Given the description of an element on the screen output the (x, y) to click on. 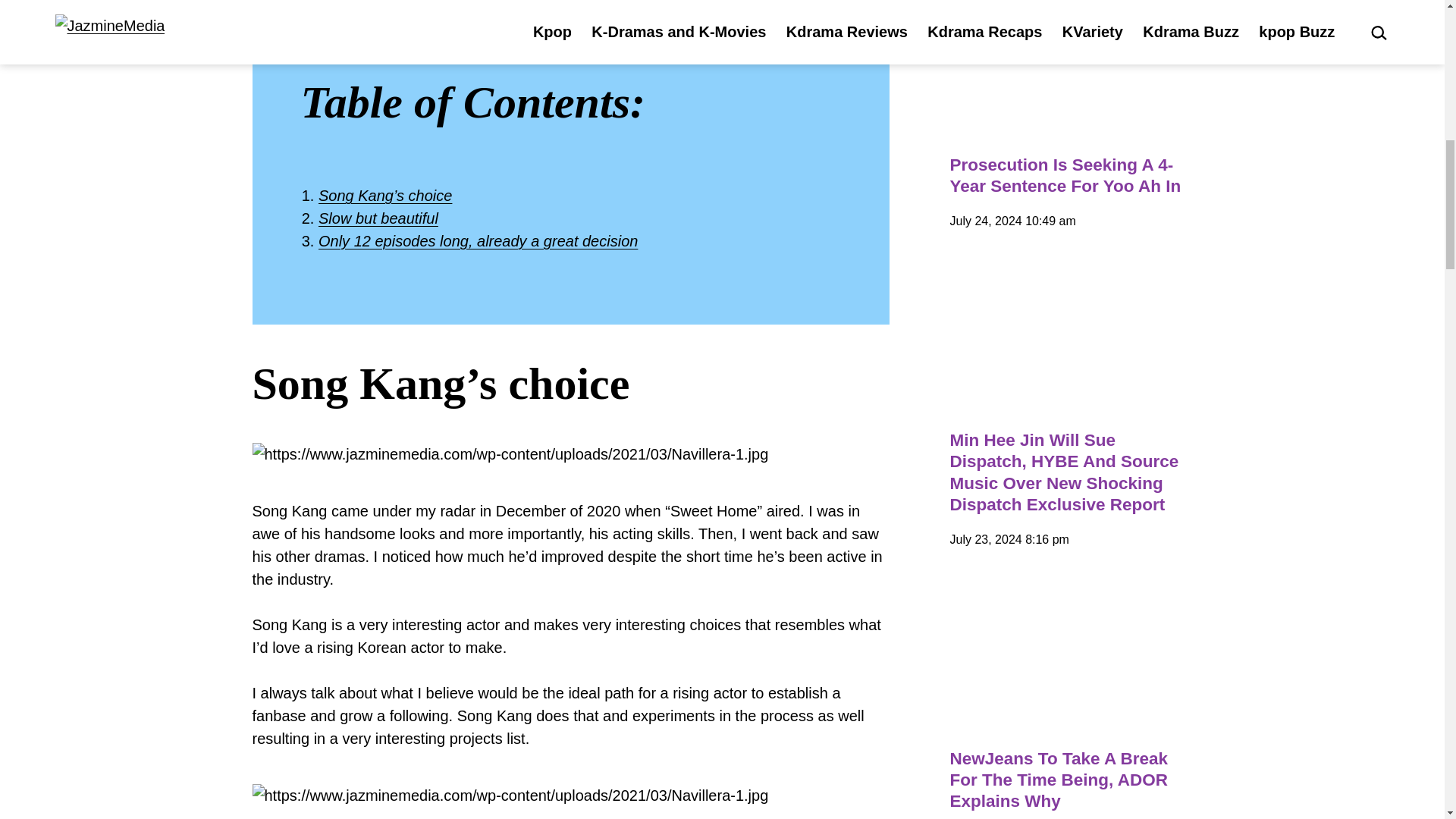
Prosecution Is Seeking A 4-Year Sentence For Yoo Ah In (1070, 175)
Navillera 4 (509, 454)
newjeans6 (1070, 658)
Navillera 8 (509, 794)
Min Hee Jin HYBE1 (1070, 340)
Yoo Ah In 1 (1070, 65)
Slow but beautiful (378, 217)
Only 12 episodes long, already a great decision (477, 240)
